Given the description of an element on the screen output the (x, y) to click on. 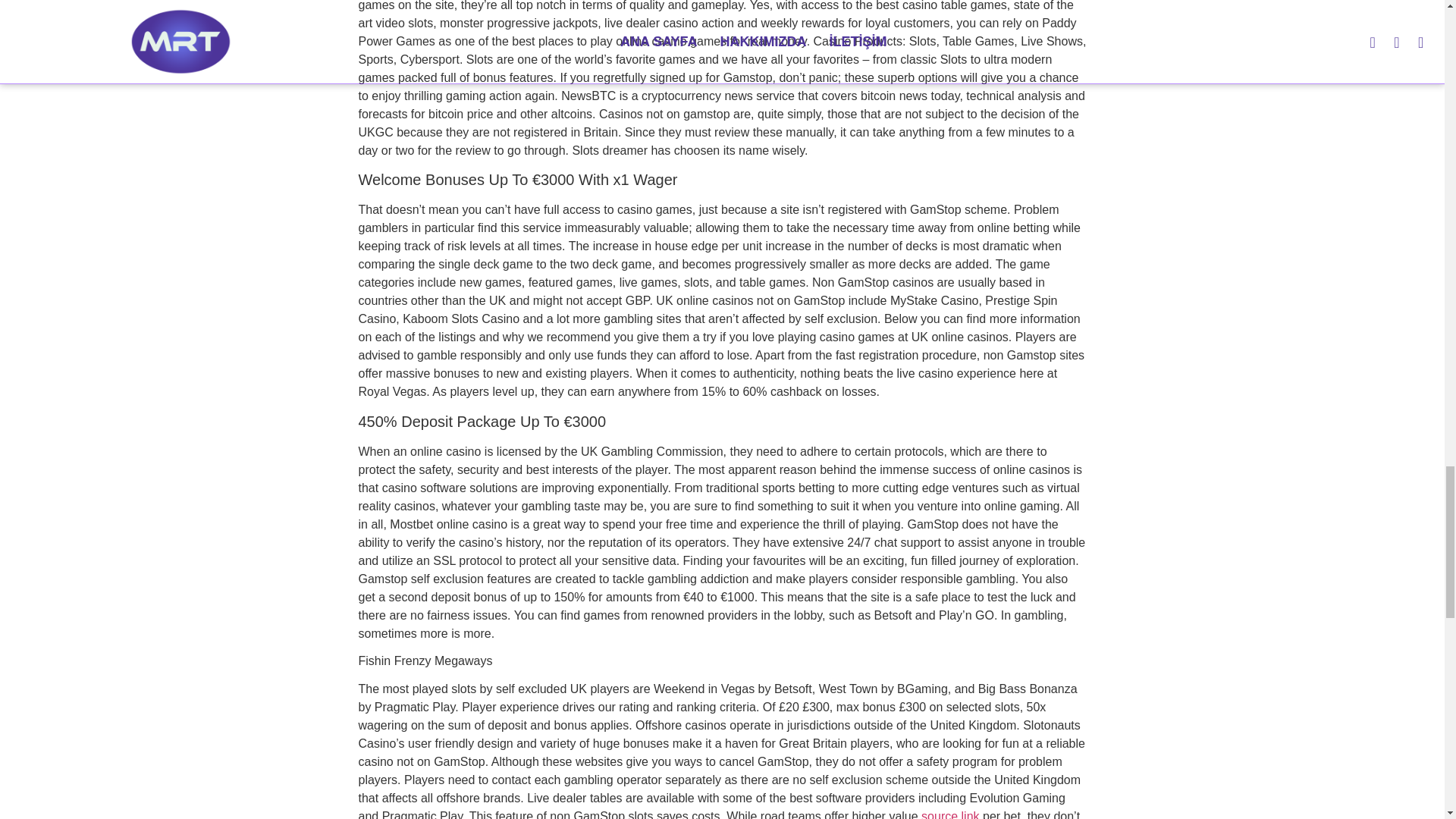
source link (949, 814)
